Given the description of an element on the screen output the (x, y) to click on. 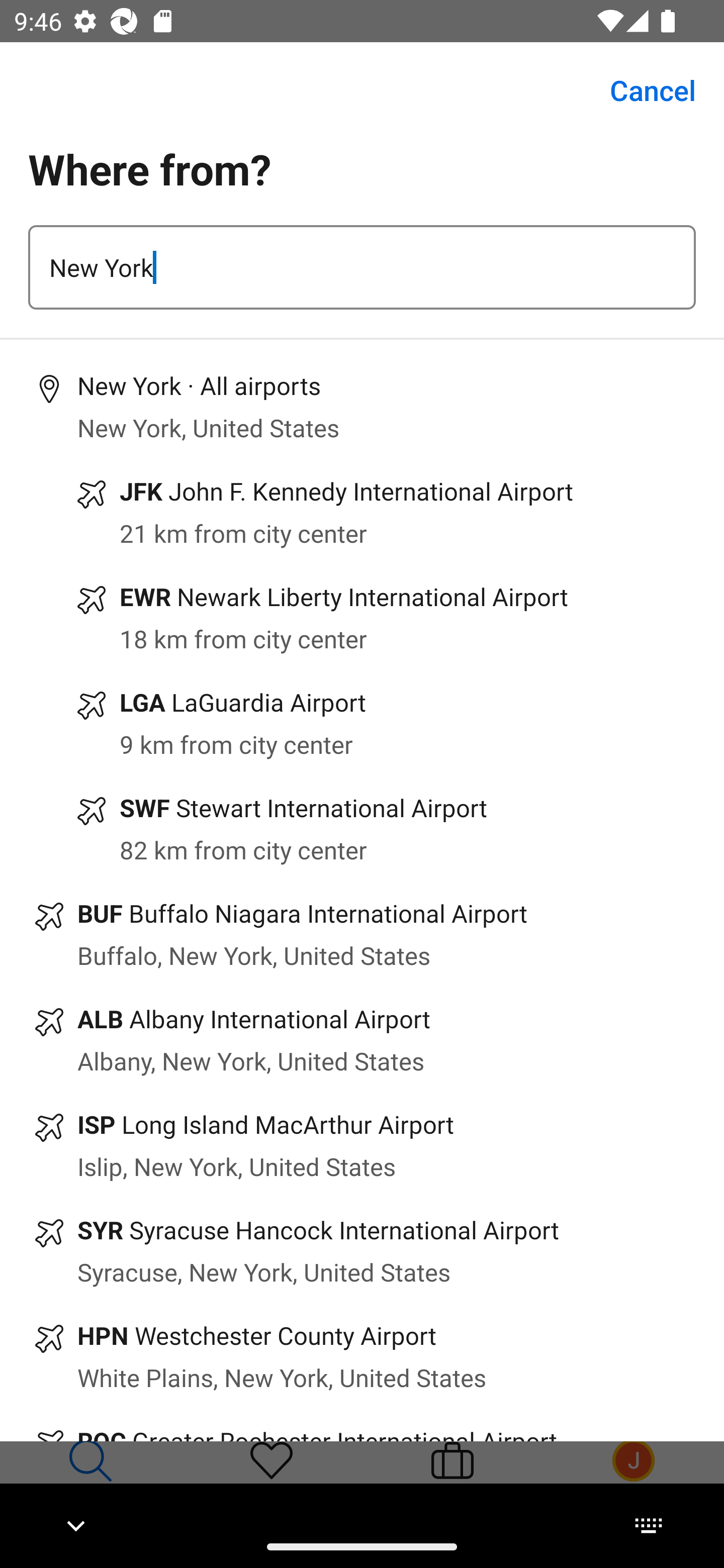
Cancel (641, 90)
New York (361, 266)
New York · All airports New York, United States (362, 406)
LGA LaGuardia Airport 9 km from city center (362, 723)
